Given the description of an element on the screen output the (x, y) to click on. 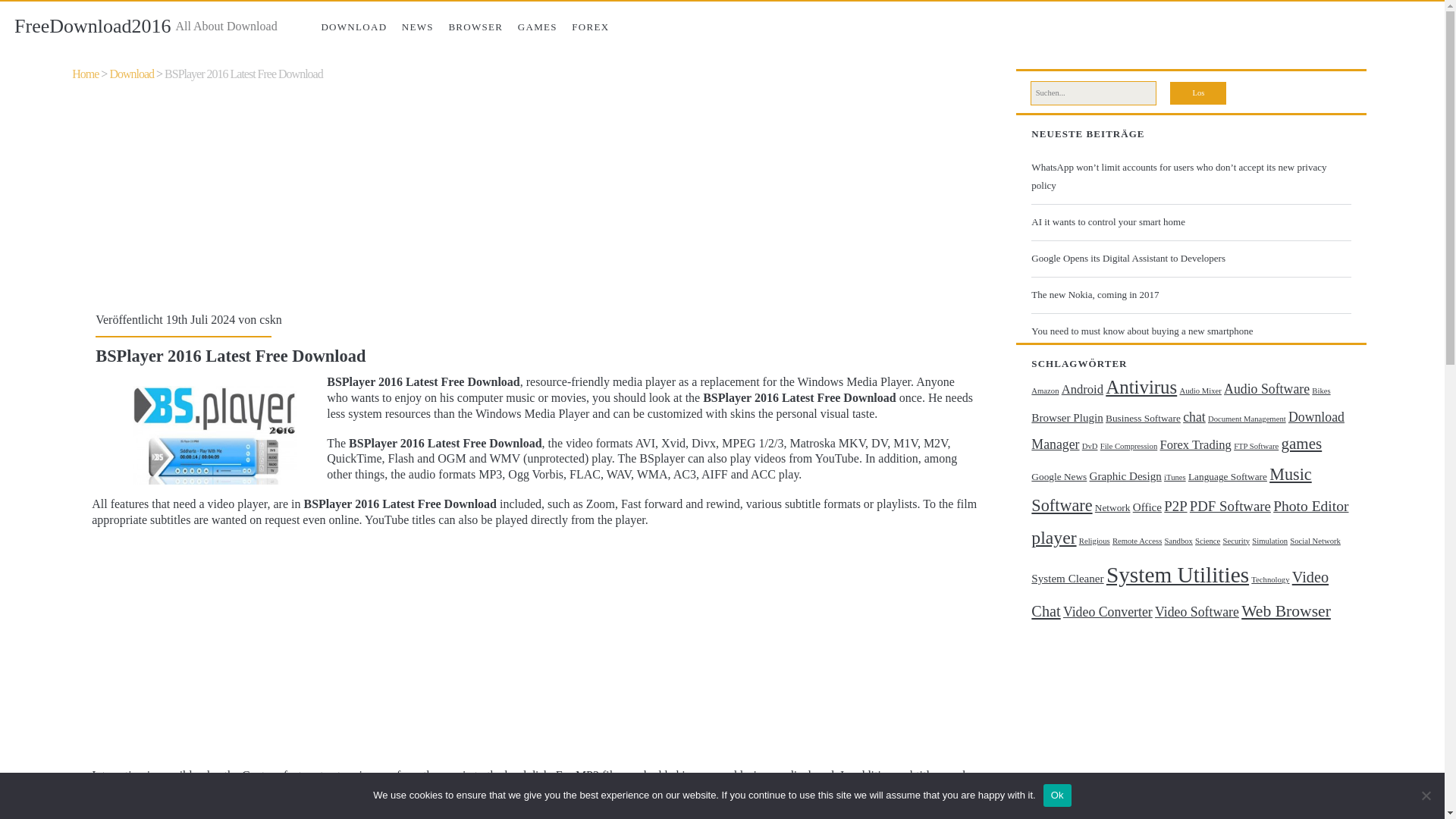
No (1425, 795)
Los (1197, 92)
File Compression (1128, 446)
Home (85, 73)
The new Nokia, coming in 2017 (1187, 294)
Home (85, 73)
Google Opens its Digital Assistant to Developers (1187, 258)
NEWS (417, 27)
Browser Plugin (1066, 417)
FreeDownload2016 (92, 25)
Suche nach: (1093, 92)
BSPlayer 2016 Latest Free Download (243, 73)
FOREX (590, 27)
You need to must know about buying a new smartphone (1187, 331)
Document Management (1246, 418)
